Given the description of an element on the screen output the (x, y) to click on. 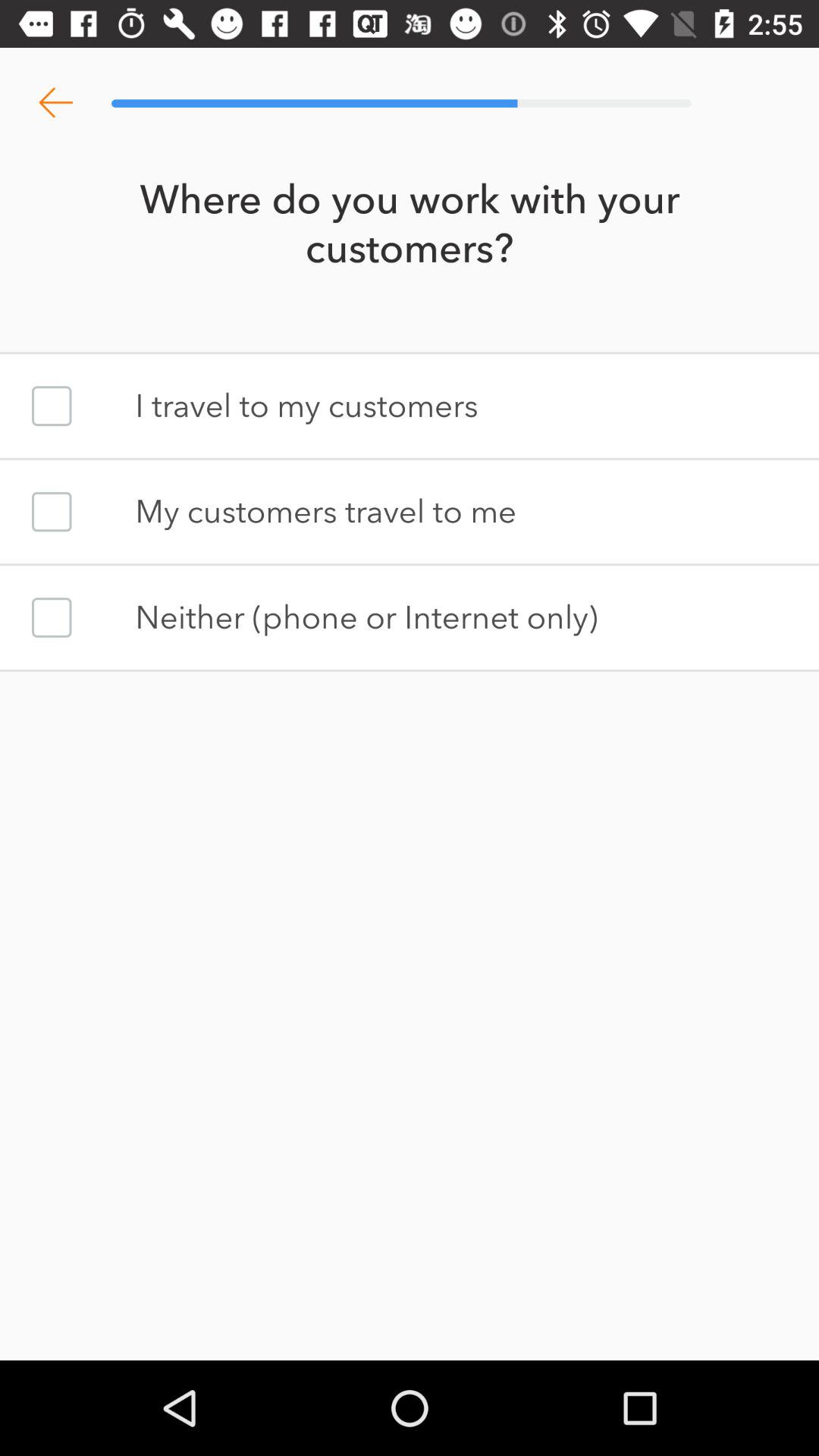
select answer (51, 405)
